Given the description of an element on the screen output the (x, y) to click on. 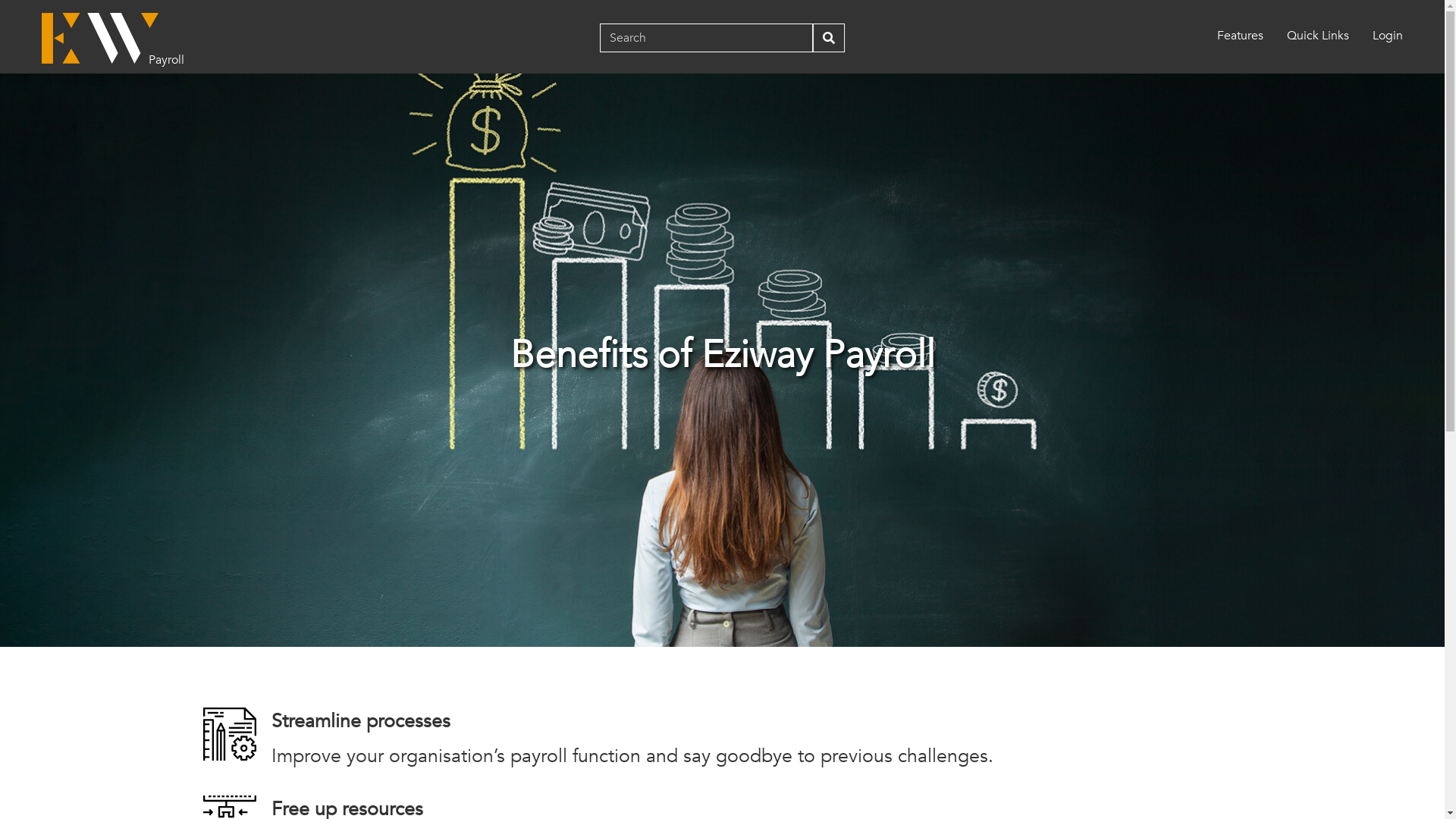
Quick Links Element type: text (1317, 35)
Login Element type: text (1387, 35)
Features Element type: text (1240, 35)
